Given the description of an element on the screen output the (x, y) to click on. 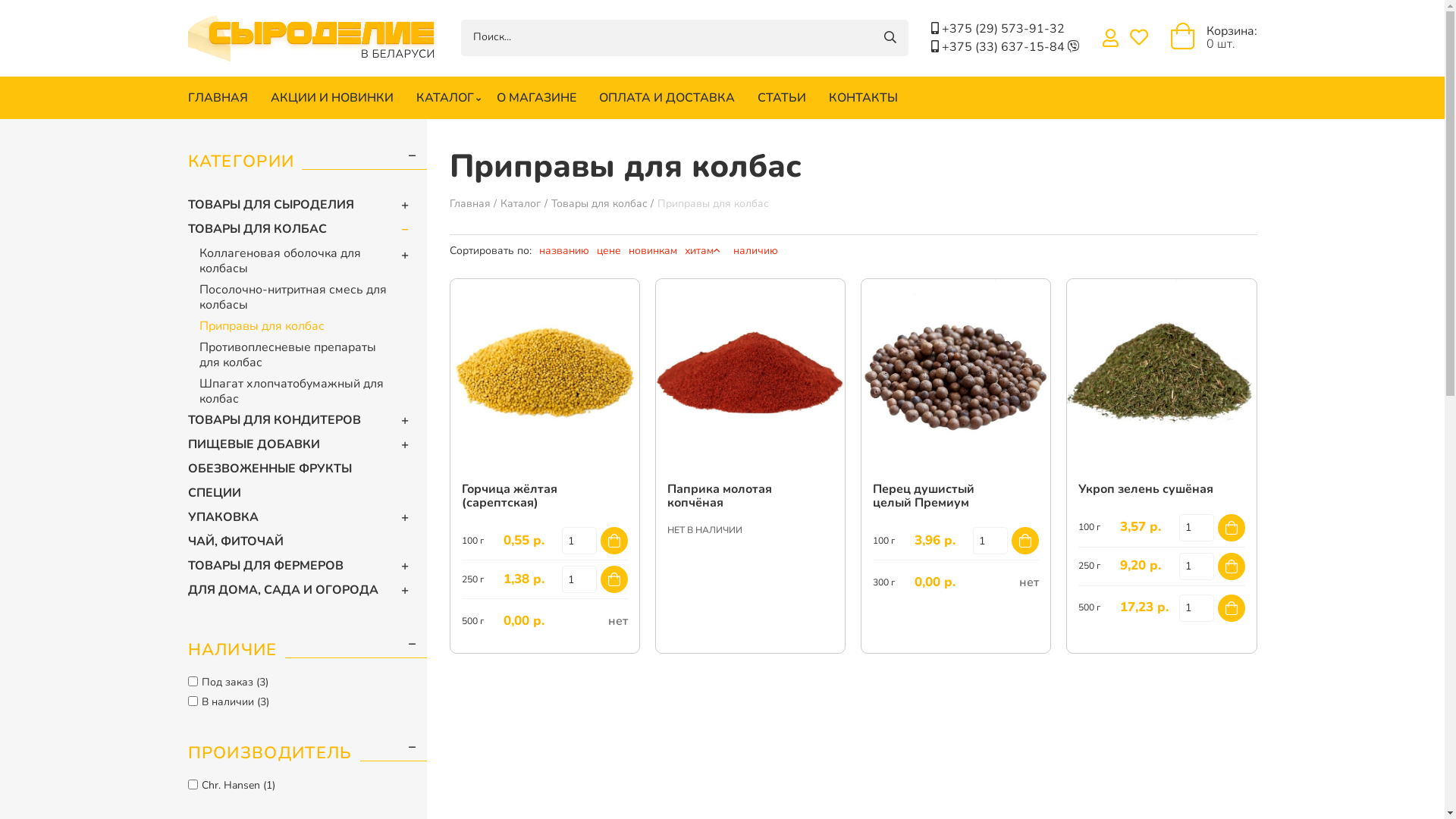
APPLY Element type: text (890, 37)
+375 (33) 637-15-84 Element type: text (1004, 46)
+375 (29) 573-91-32 Element type: text (1002, 28)
Viber Element type: hover (1073, 46)
